Given the description of an element on the screen output the (x, y) to click on. 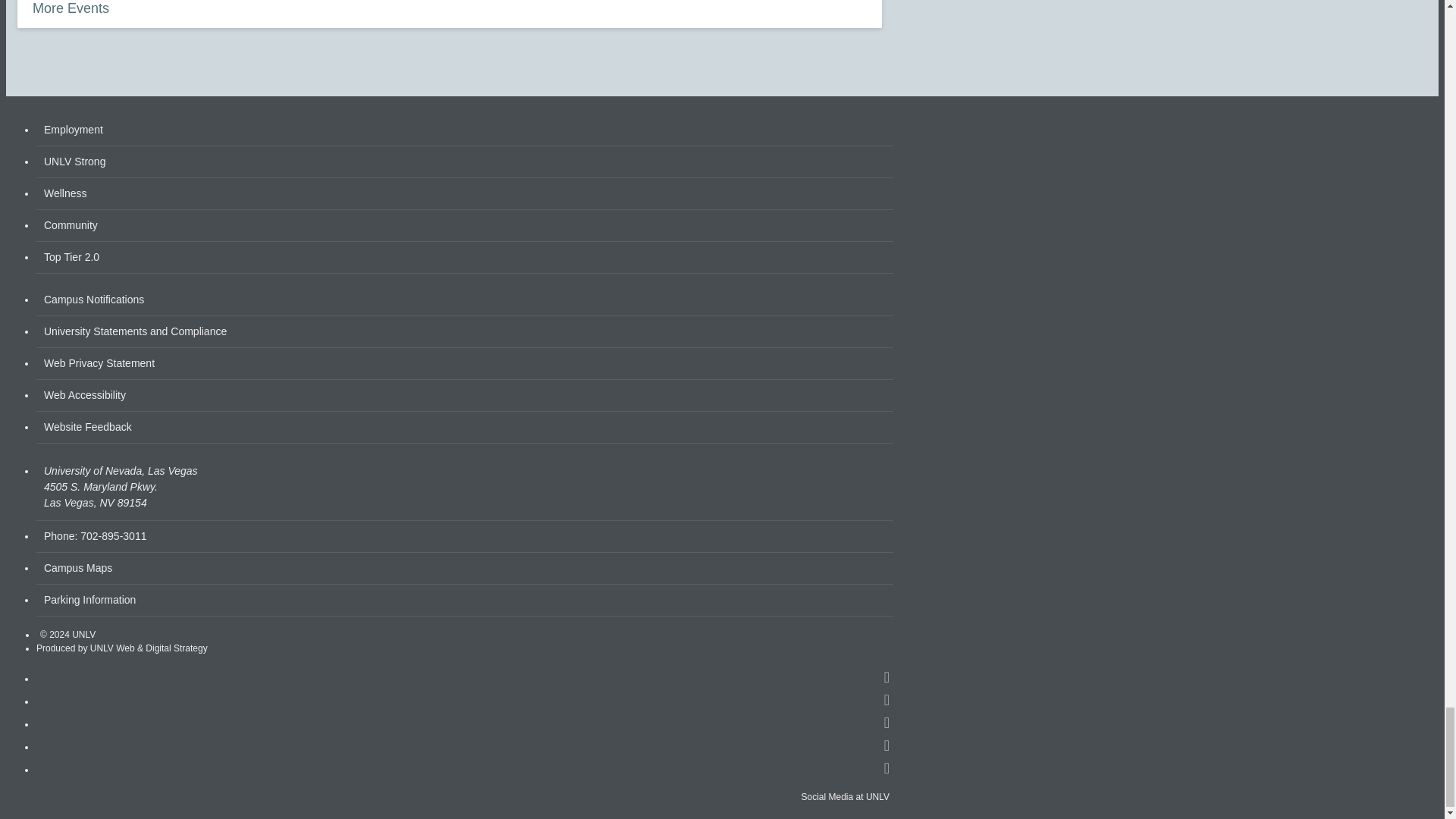
Find us on Instagram (886, 701)
Follow us on Twitter (886, 746)
View Campus Map (464, 487)
Watch us on YouTube (886, 769)
Find us on Facebook (886, 678)
Follow us on TikTok (886, 724)
